Given the description of an element on the screen output the (x, y) to click on. 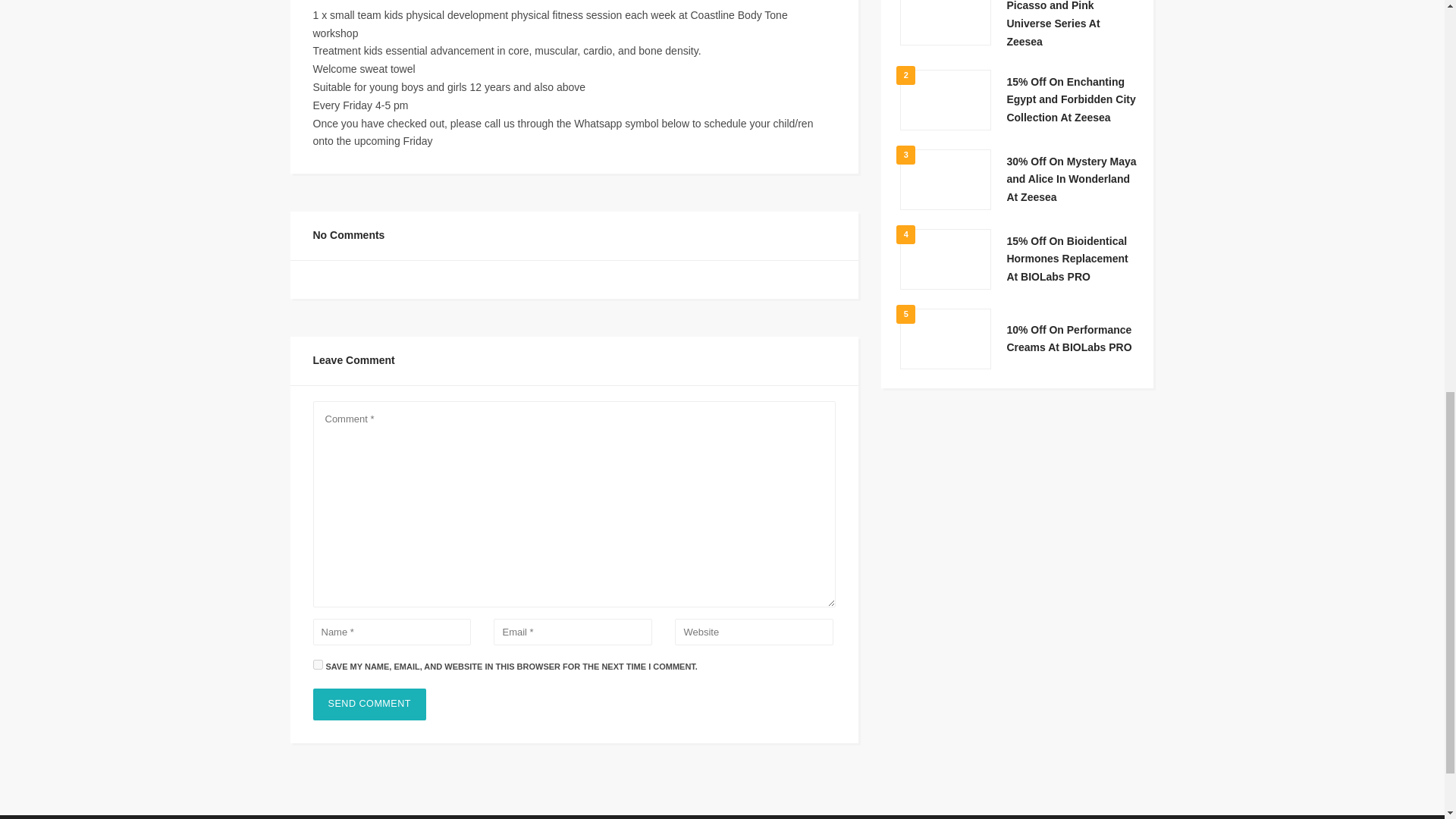
Send Comment (369, 703)
yes (317, 664)
Send Comment (369, 703)
